Given the description of an element on the screen output the (x, y) to click on. 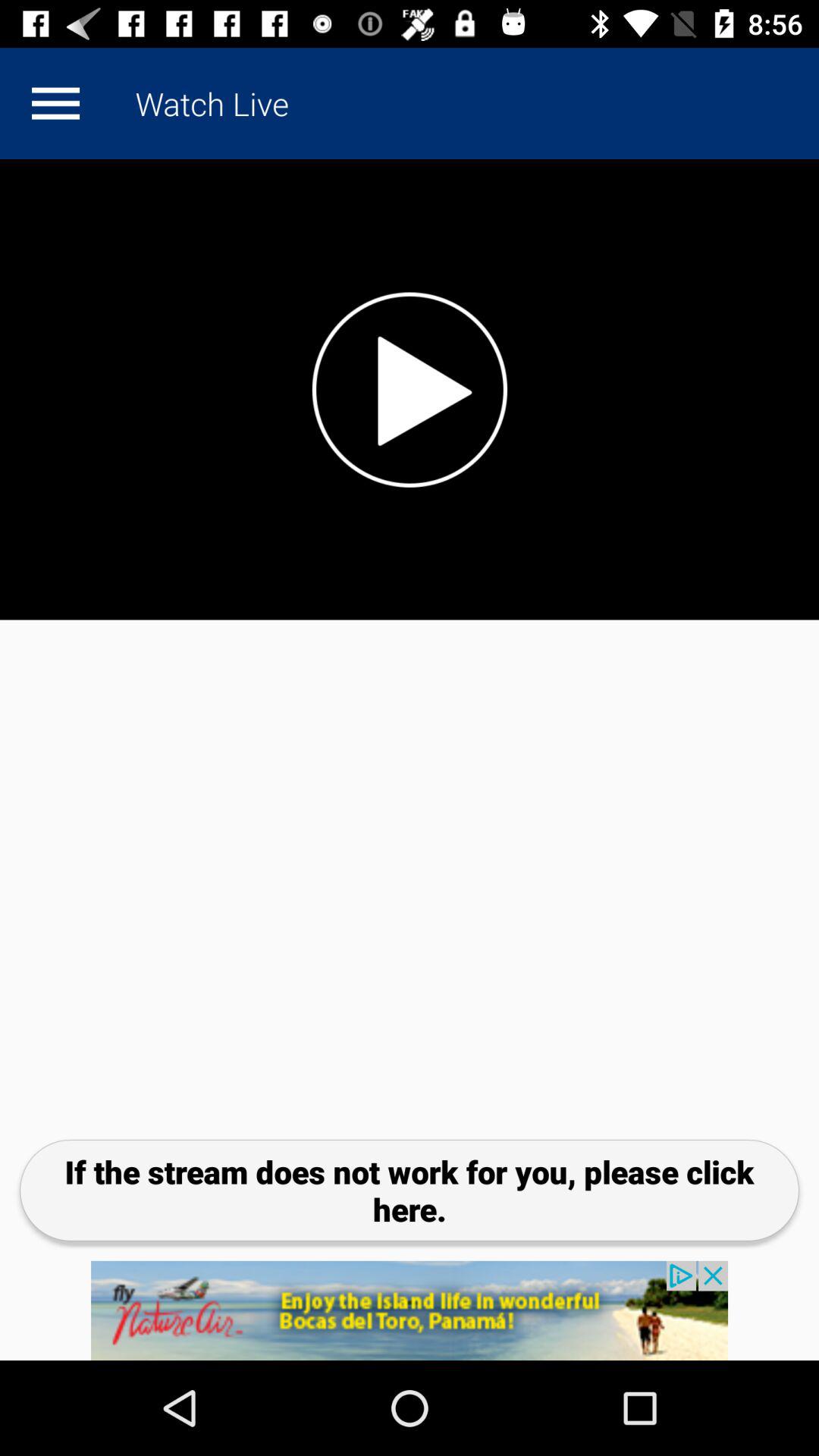
product add (409, 1310)
